Given the description of an element on the screen output the (x, y) to click on. 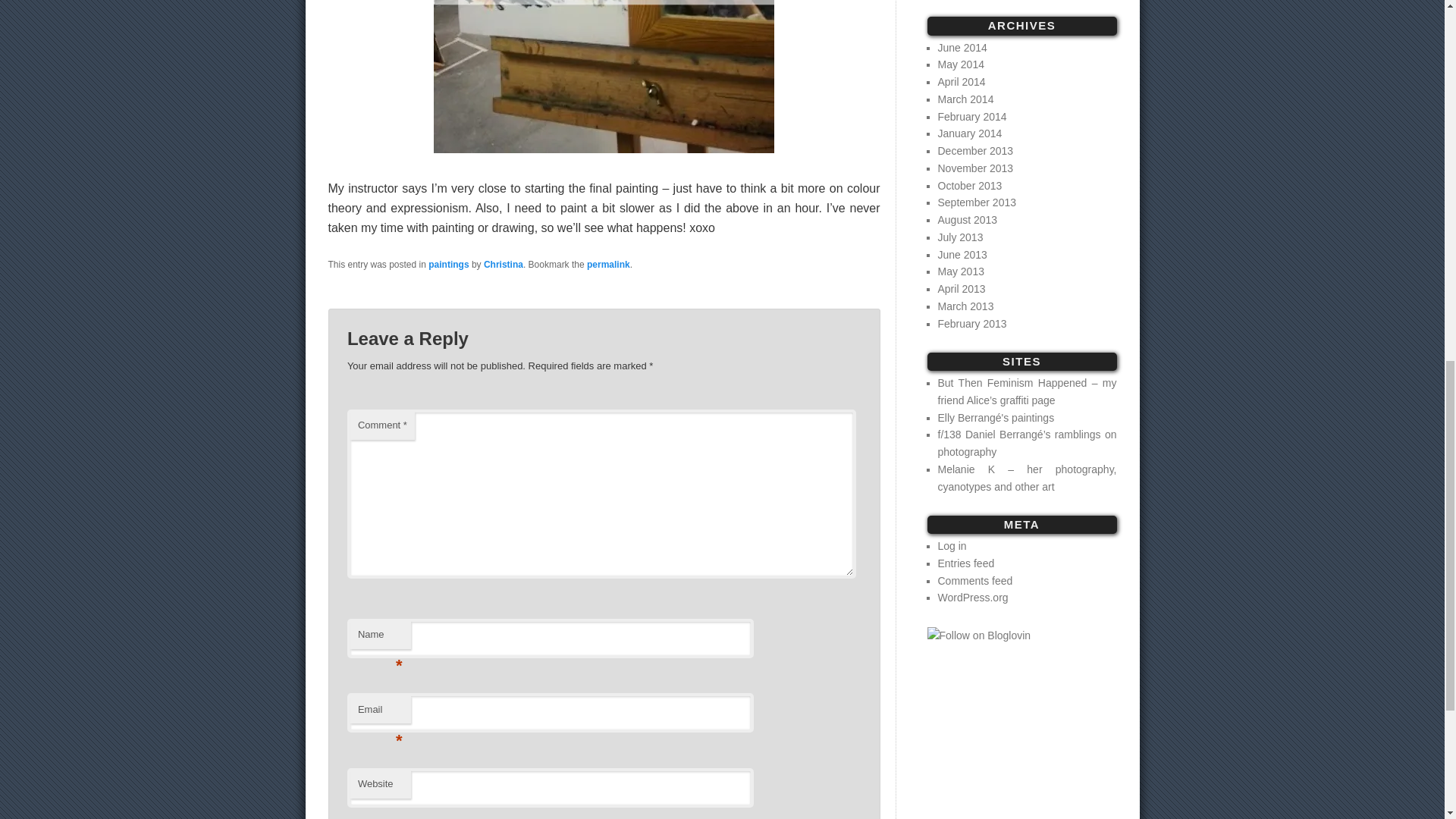
paintings (448, 264)
permalink (608, 264)
Christina (502, 264)
